Given the description of an element on the screen output the (x, y) to click on. 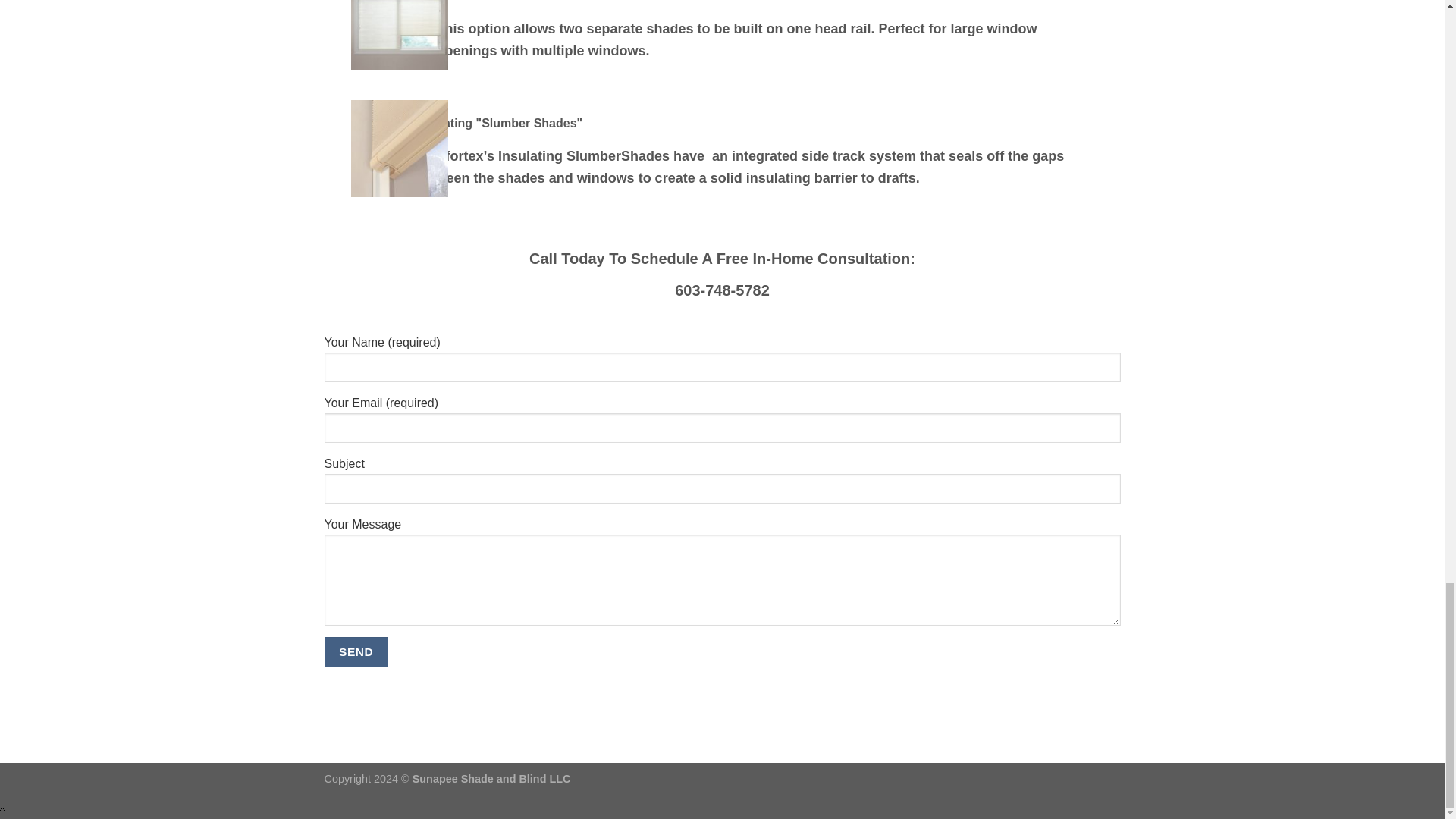
Send (356, 651)
Send (356, 651)
